Given the description of an element on the screen output the (x, y) to click on. 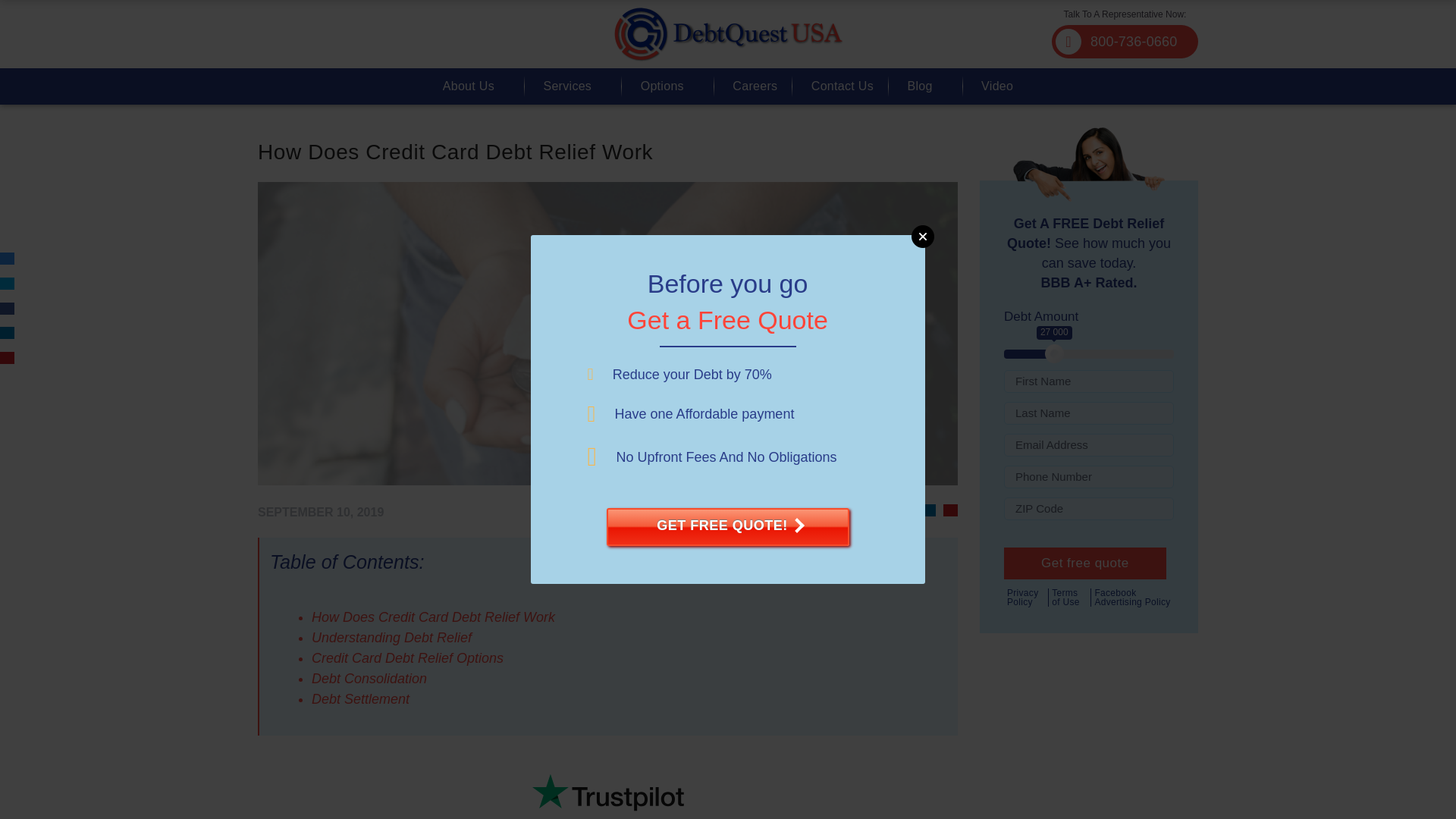
Understanding Debt Relief (391, 637)
Contact Us (841, 85)
Services (567, 85)
How Does Credit Card Debt Relief Work (432, 616)
About Us (468, 85)
Customer reviews powered by Trustpilot (607, 780)
800-736-0660 (1124, 41)
Careers (754, 85)
Options (662, 85)
